Given the description of an element on the screen output the (x, y) to click on. 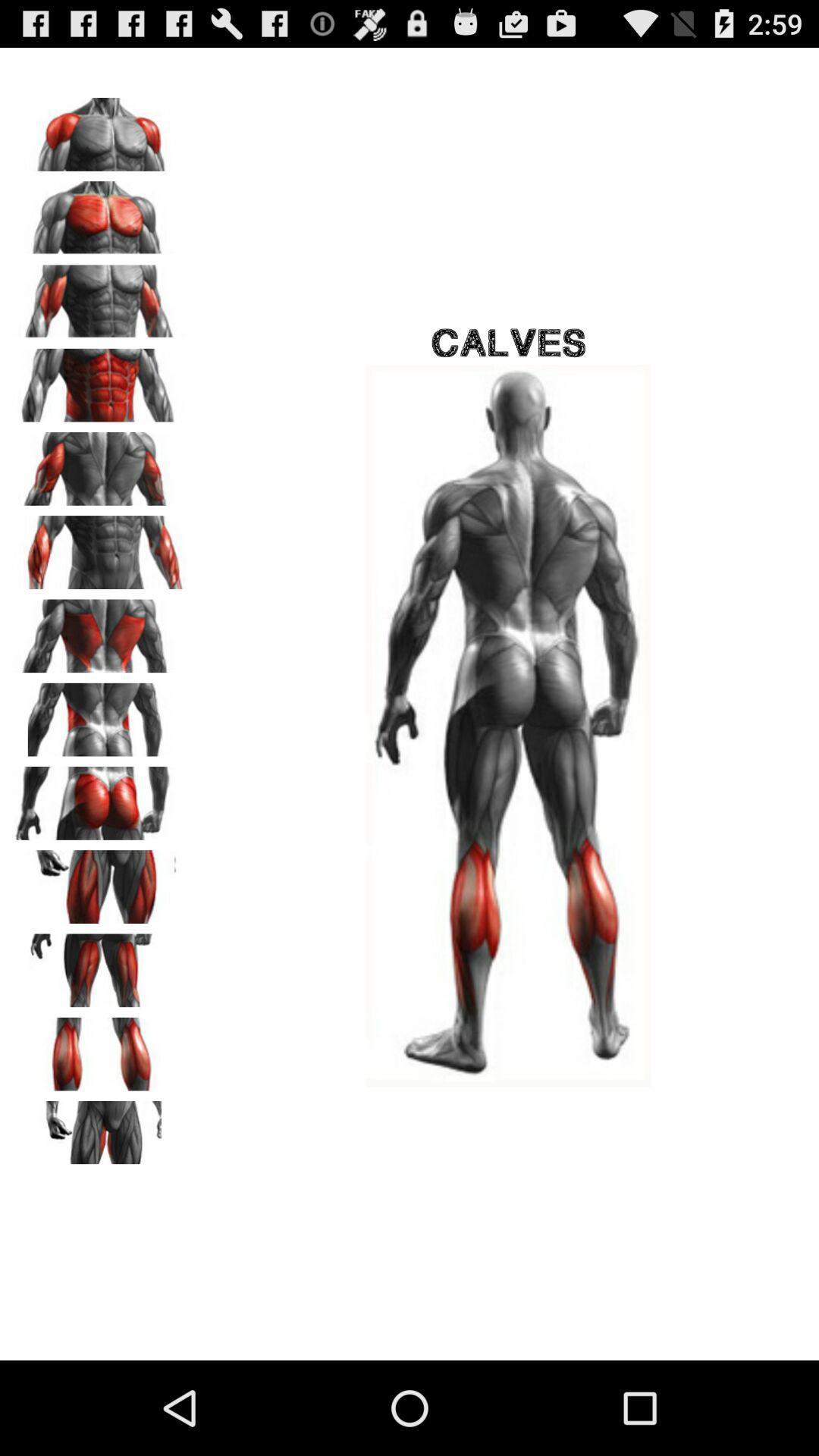
select exercise (99, 547)
